Given the description of an element on the screen output the (x, y) to click on. 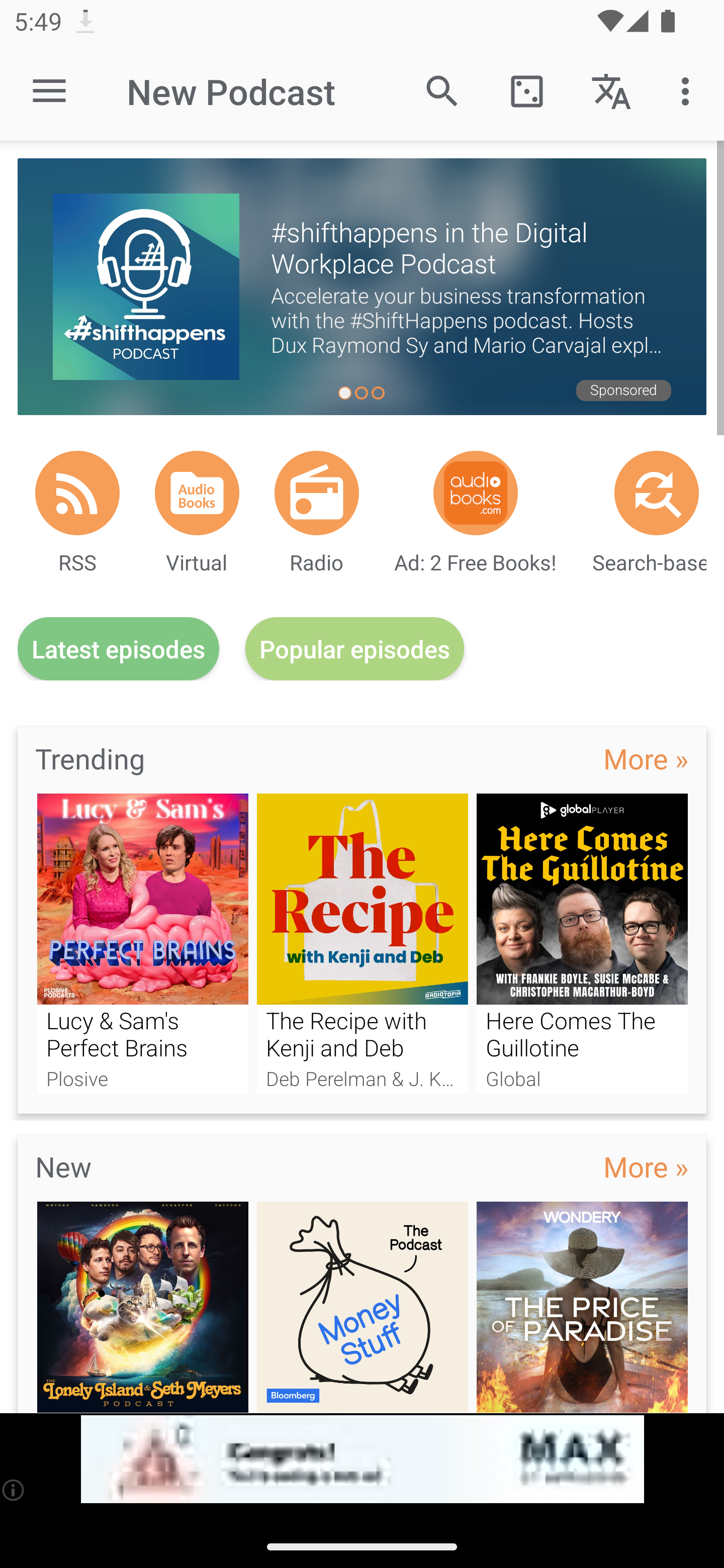
Open navigation sidebar (49, 91)
Search (442, 90)
Random pick (526, 90)
Podcast languages (611, 90)
More options (688, 90)
RSS (77, 492)
Virtual (196, 492)
Radio (316, 492)
Search-based (656, 492)
Latest episodes (118, 648)
Popular episodes (354, 648)
More » (645, 757)
Lucy & Sam's Perfect Brains Plosive (142, 942)
Here Comes The Guillotine Global (581, 942)
More » (645, 1166)
The Lonely Island and Seth Meyers Podcast (142, 1306)
Money Stuff: The Podcast (362, 1306)
The Price of Paradise (581, 1306)
app-monetization (362, 1459)
(i) (14, 1489)
